Given the description of an element on the screen output the (x, y) to click on. 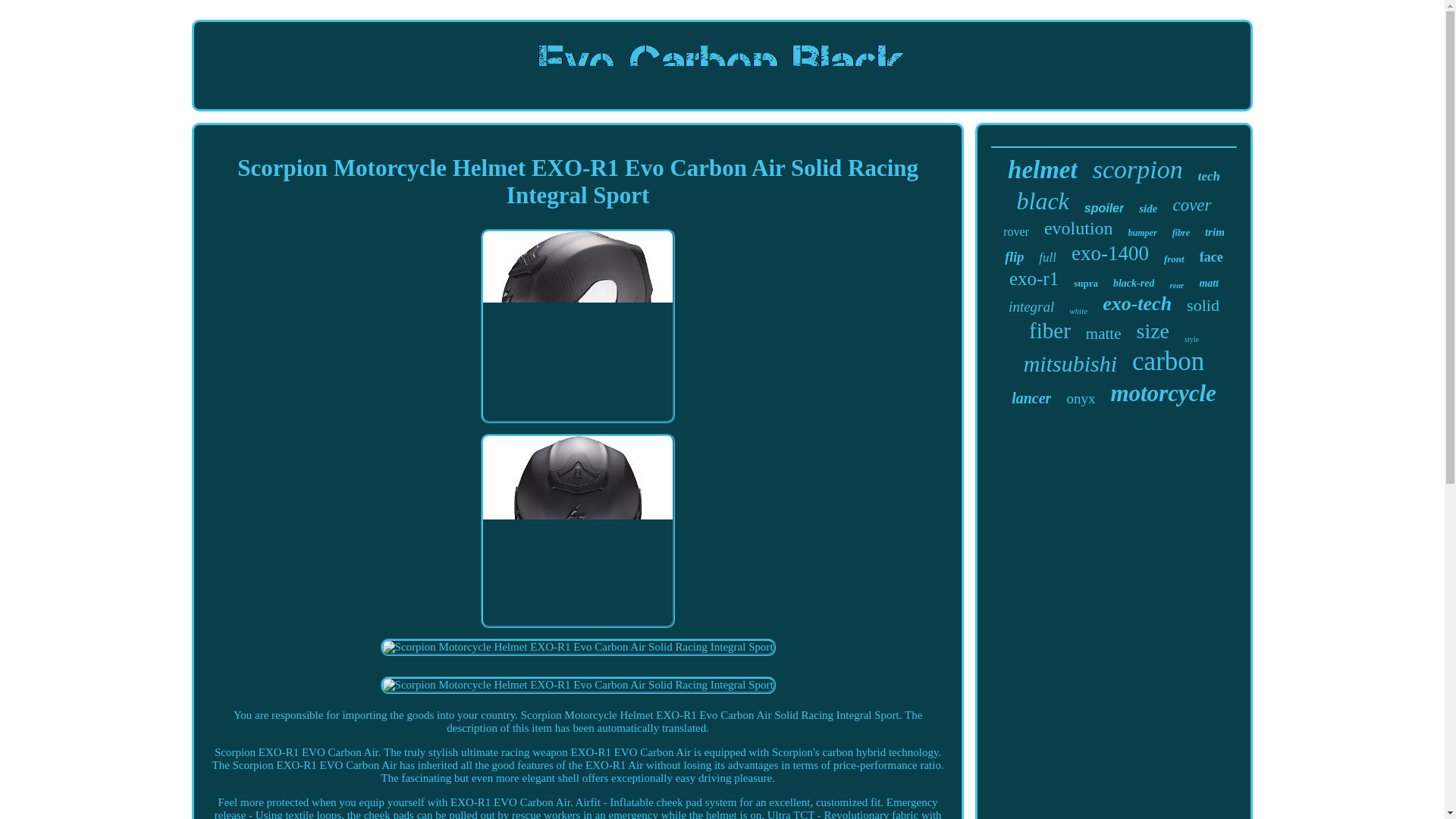
exo-r1 (1033, 278)
integral (1031, 306)
helmet (1042, 170)
rear (1176, 284)
fibre (1180, 233)
black-red (1133, 283)
rover (1016, 232)
flip (1013, 257)
exo-tech (1137, 303)
